Given the description of an element on the screen output the (x, y) to click on. 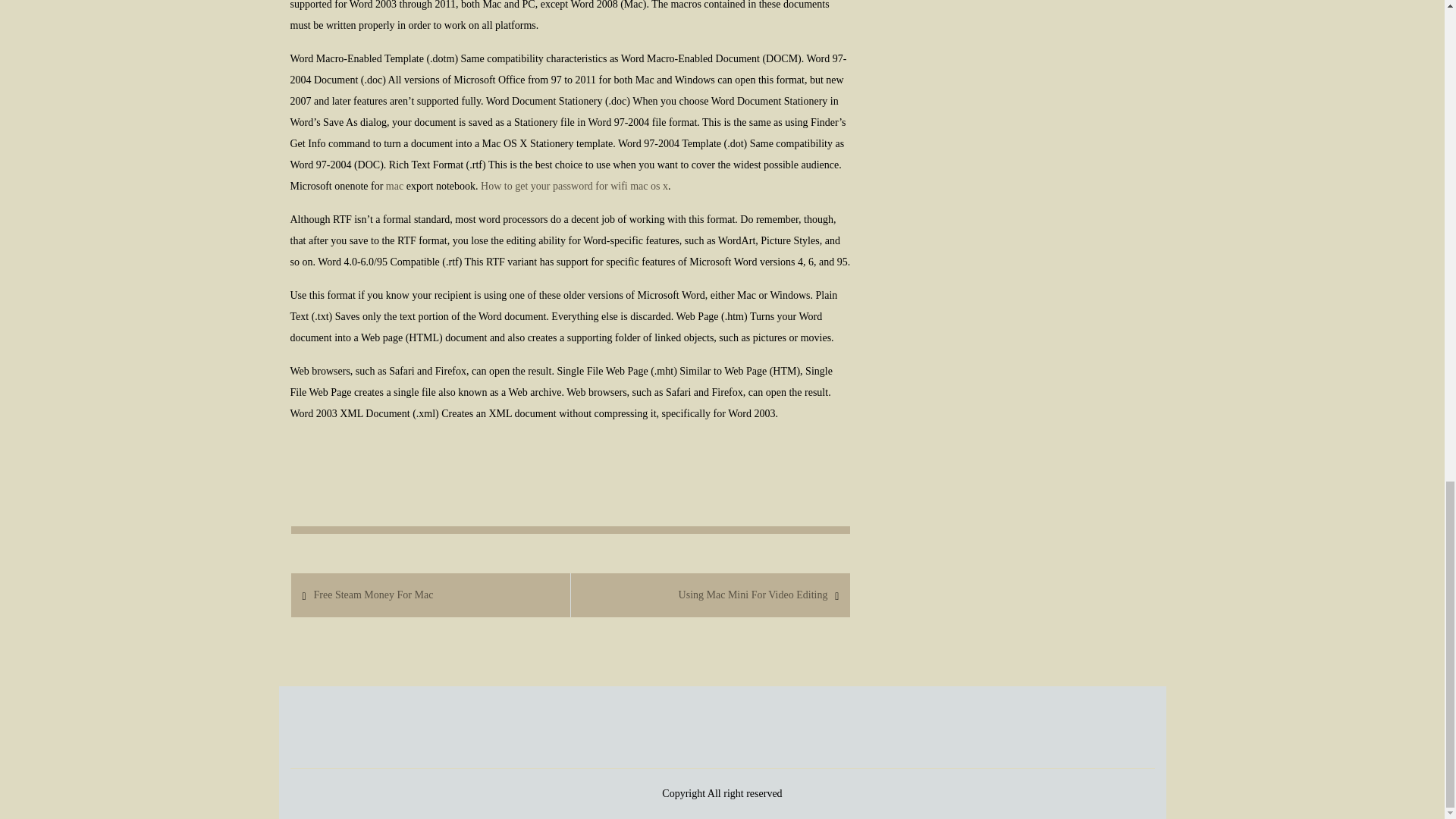
Free Steam Money For Mac (372, 595)
How to get your password for wifi mac os x (574, 185)
How to get your password for wifi mac os x (574, 185)
Using Mac Mini For Video Editing (753, 595)
mac (394, 185)
